Given the description of an element on the screen output the (x, y) to click on. 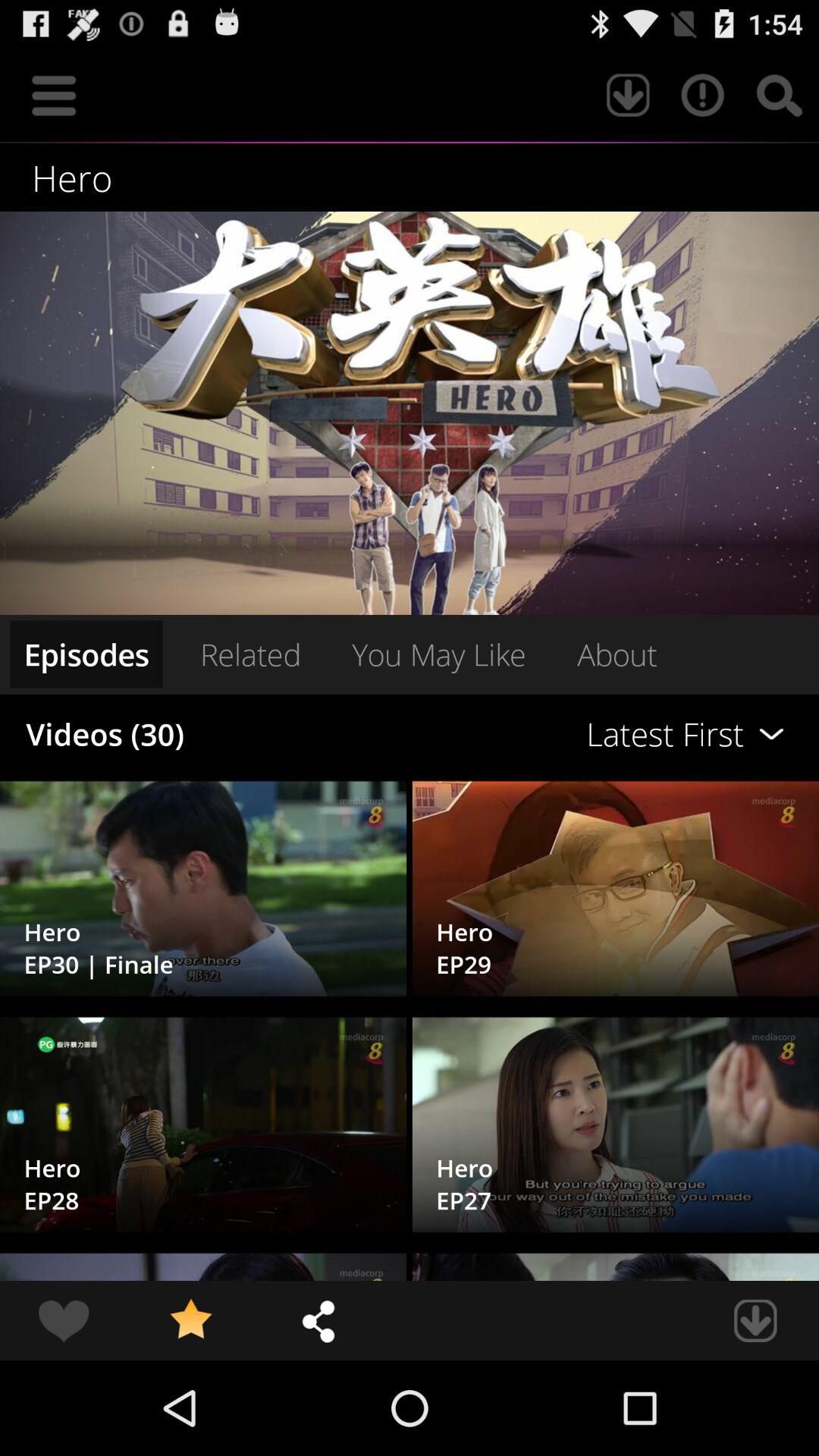
turn off the item at the top left corner (53, 95)
